Given the description of an element on the screen output the (x, y) to click on. 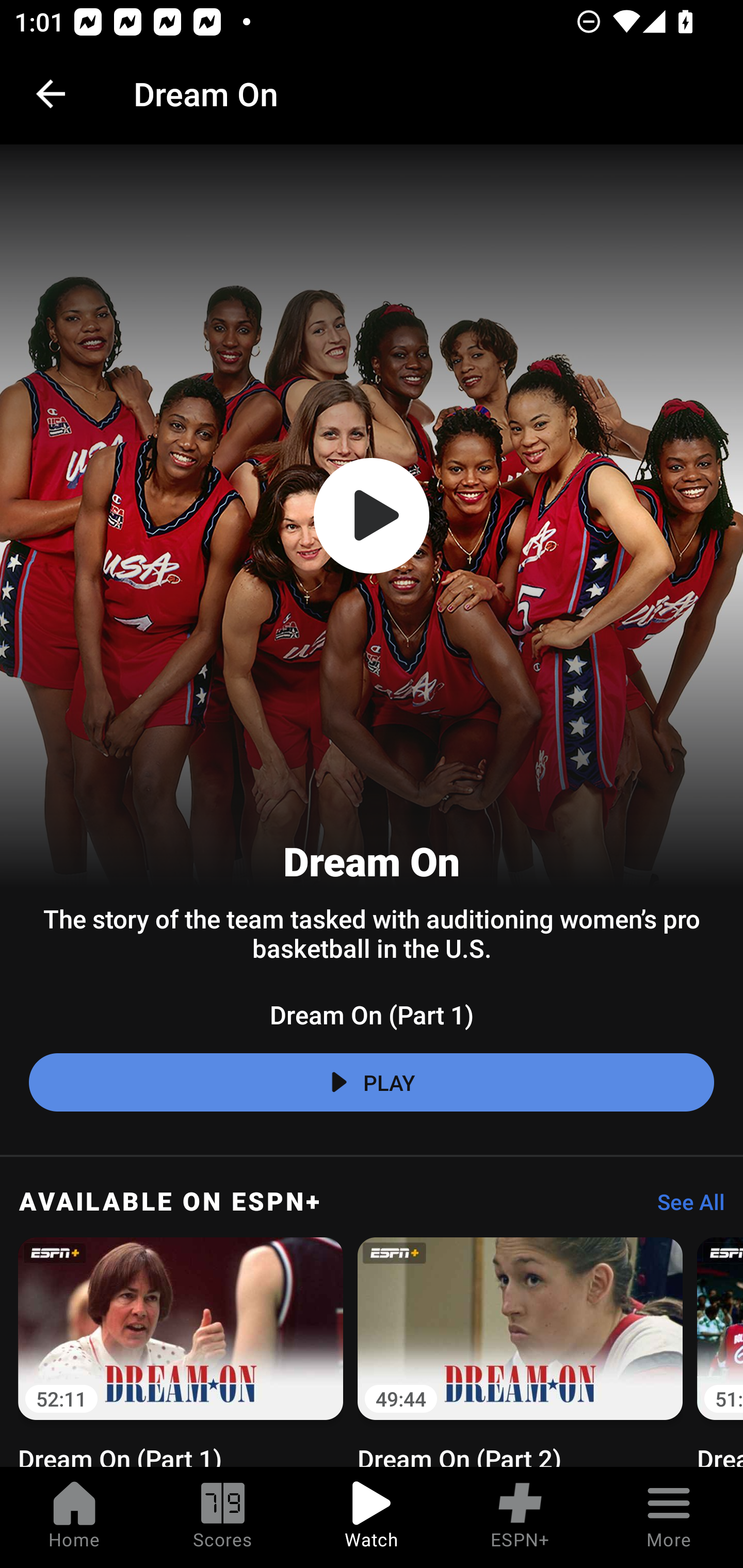
 (371, 515)
PLAY (371, 1082)
See All (683, 1206)
52:11 Dream On (Part 1) (180, 1348)
49:44 Dream On (Part 2) (519, 1348)
Home (74, 1517)
Scores (222, 1517)
ESPN+ (519, 1517)
More (668, 1517)
